Given the description of an element on the screen output the (x, y) to click on. 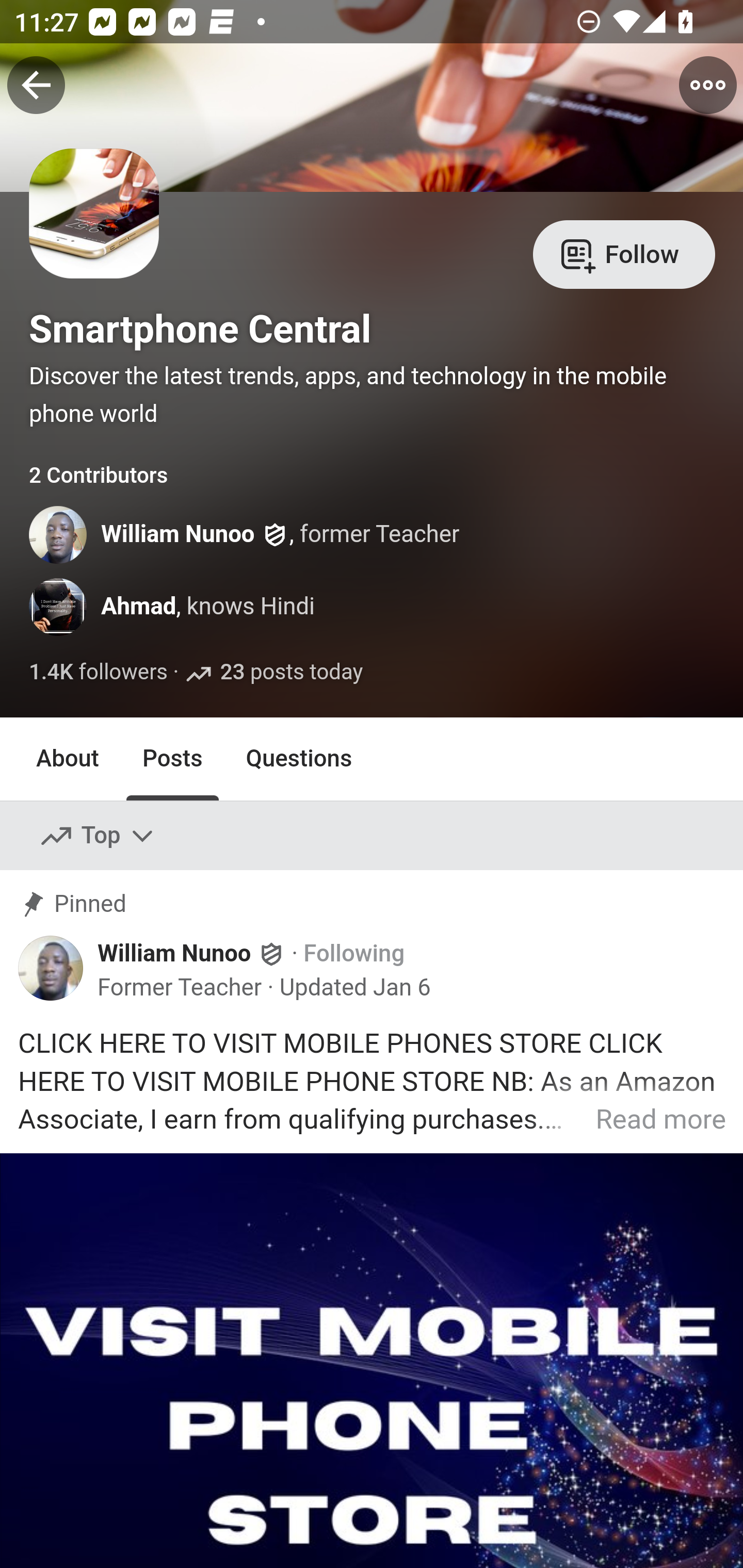
Follow (623, 252)
Smartphone Central (200, 329)
Profile photo for William Nunoo (58, 534)
William Nunoo (178, 533)
Profile photo for Ahmad (58, 606)
Ahmad (138, 606)
About (68, 758)
Posts (171, 758)
Questions (299, 758)
Top (97, 836)
Profile photo for William Nunoo (50, 967)
William Nunoo William Nunoo   (191, 952)
